Given the description of an element on the screen output the (x, y) to click on. 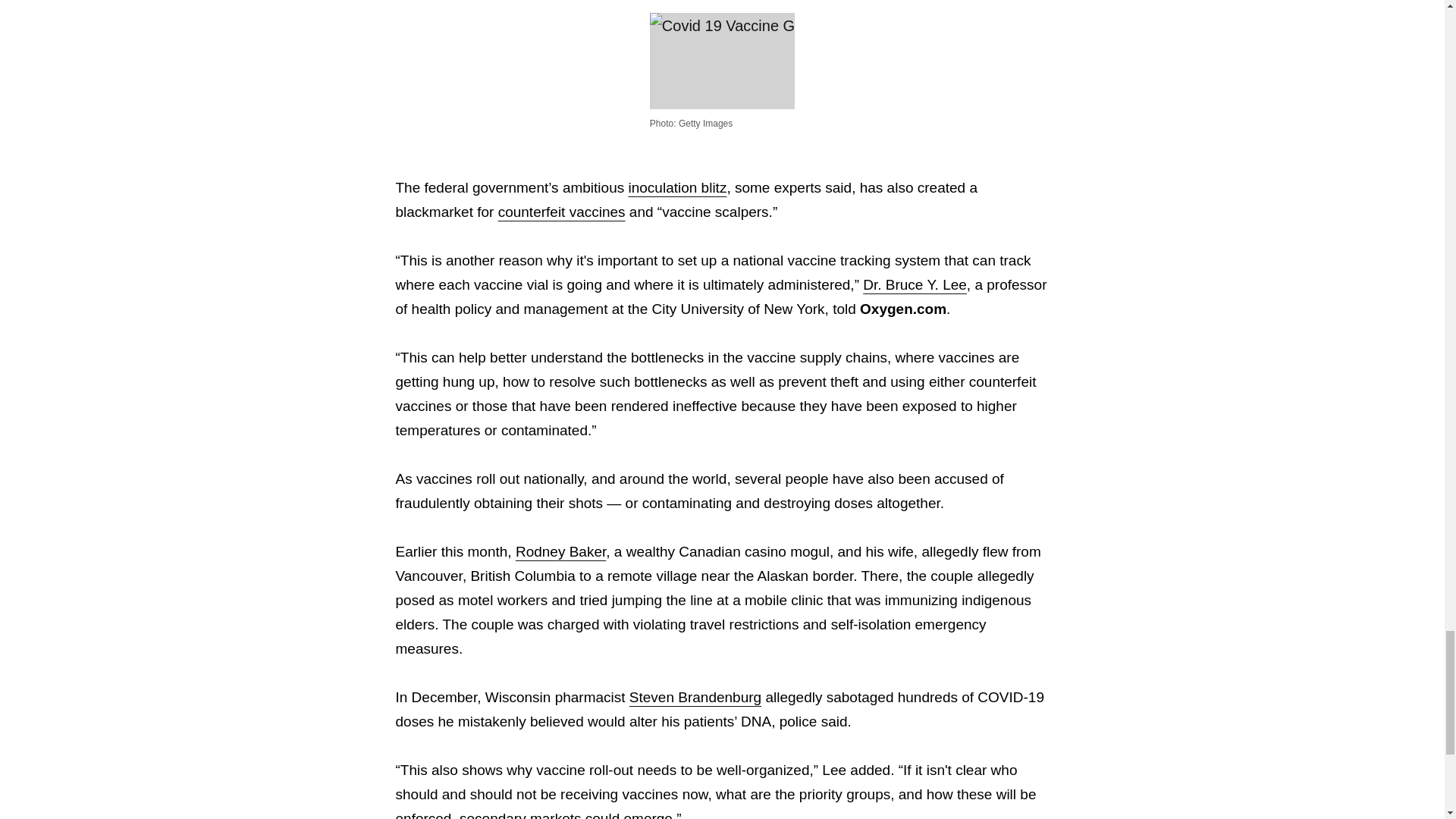
Steven Brandenburg (694, 697)
Dr. Bruce Y. Lee (914, 284)
Rodney Baker (560, 551)
inoculation blitz (676, 187)
counterfeit vaccines (561, 211)
